Given the description of an element on the screen output the (x, y) to click on. 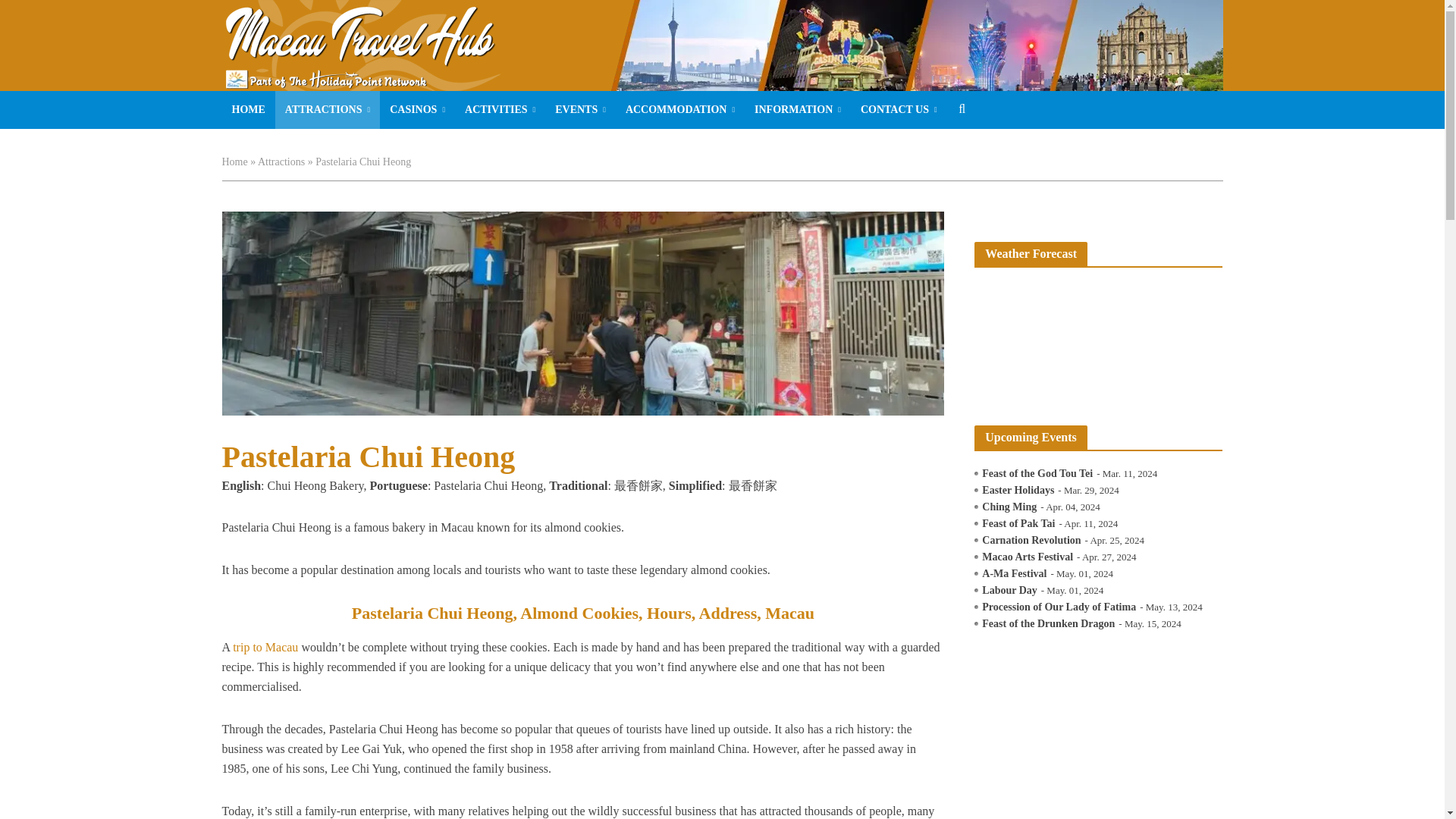
ATTRACTIONS (327, 109)
CASINOS (417, 109)
HOME (248, 109)
